Given the description of an element on the screen output the (x, y) to click on. 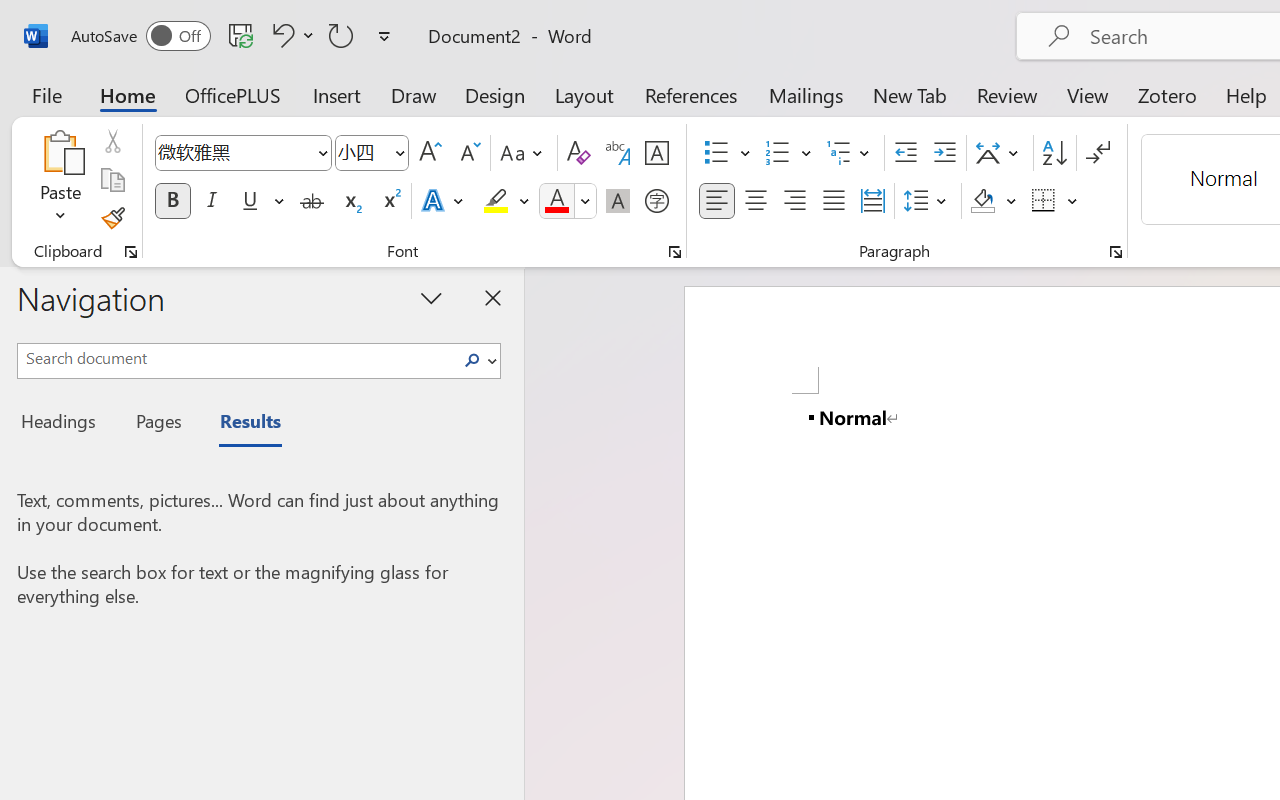
File Tab (46, 94)
Phonetic Guide... (618, 153)
Numbering (788, 153)
Customize Quick Access Toolbar (384, 35)
Font (234, 152)
Shading (993, 201)
Sort... (1054, 153)
Clear Formatting (578, 153)
Font Size (372, 153)
Font (242, 153)
Undo Text Fill Effect (280, 35)
Copy (112, 179)
Search (471, 360)
Design (495, 94)
Task Pane Options (431, 297)
